Given the description of an element on the screen output the (x, y) to click on. 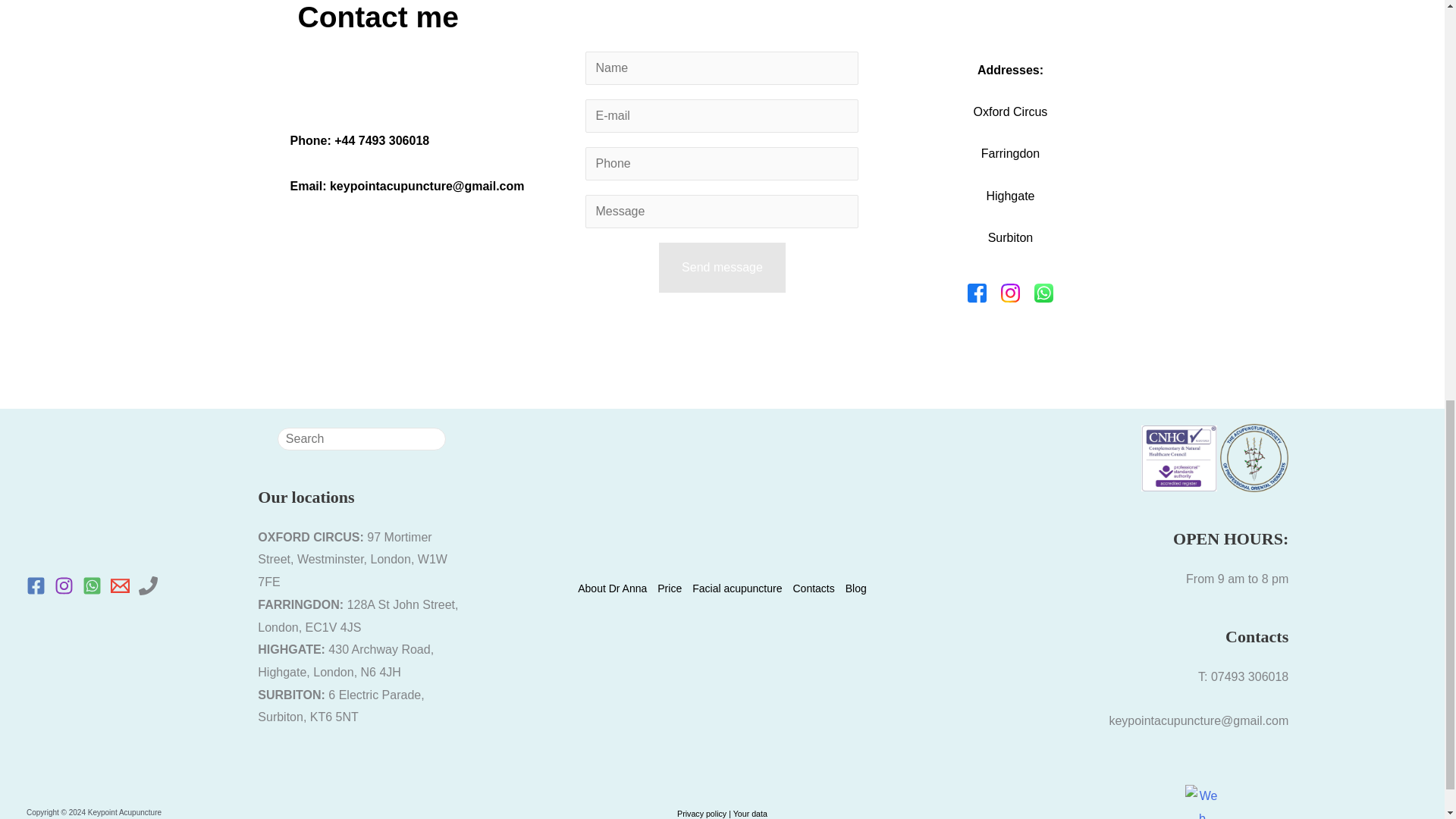
Surbiton (1010, 237)
Page 1 (722, 810)
Farringdon (1010, 153)
Oxford Circus (1011, 111)
Highgate (1009, 195)
Send message (722, 267)
